Given the description of an element on the screen output the (x, y) to click on. 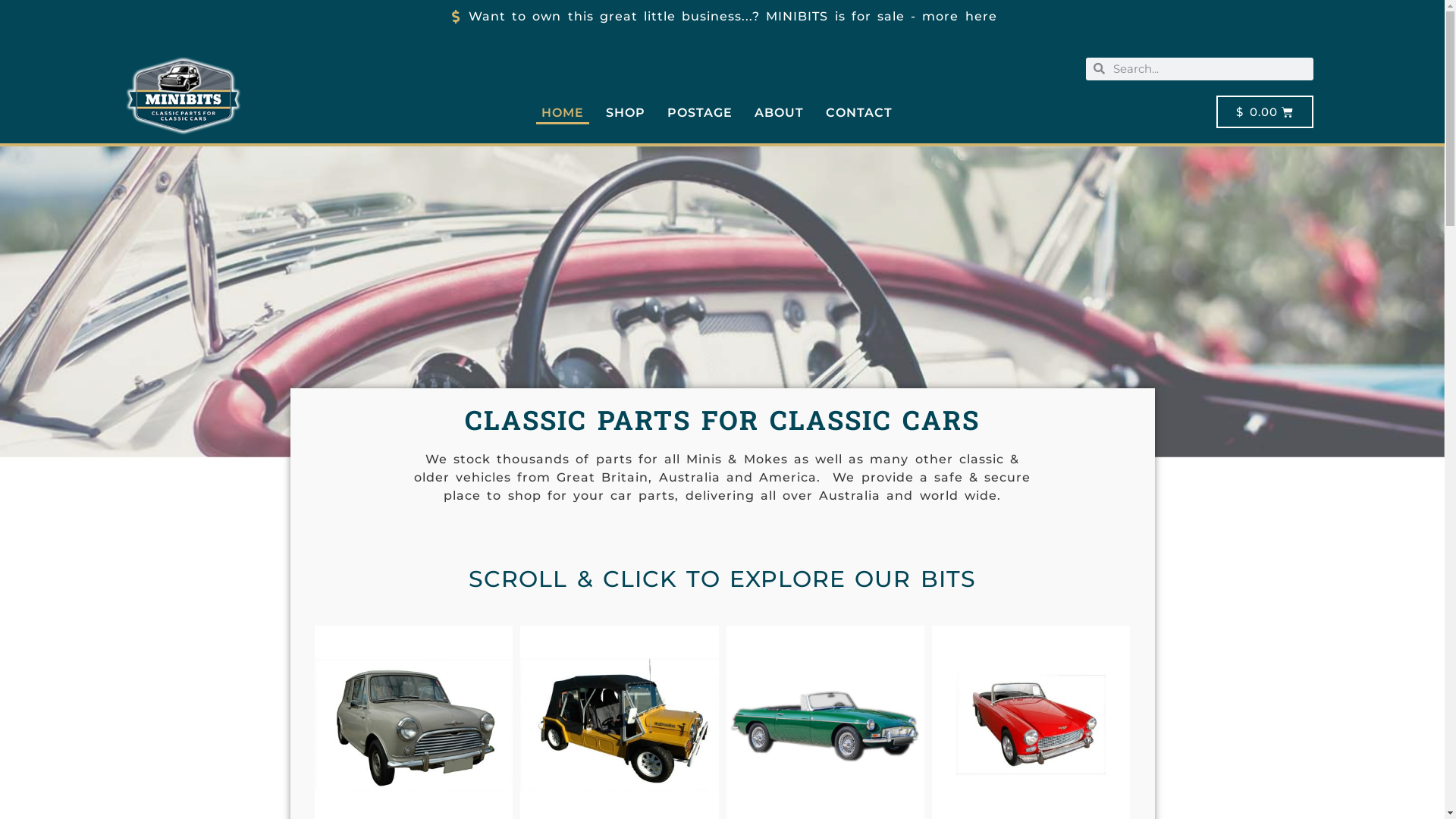
POSTAGE Element type: text (699, 112)
$ 0.00 Element type: text (1264, 111)
HOME Element type: text (562, 112)
CONTACT Element type: text (858, 112)
SHOP Element type: text (625, 112)
ABOUT Element type: text (779, 112)
